Given the description of an element on the screen output the (x, y) to click on. 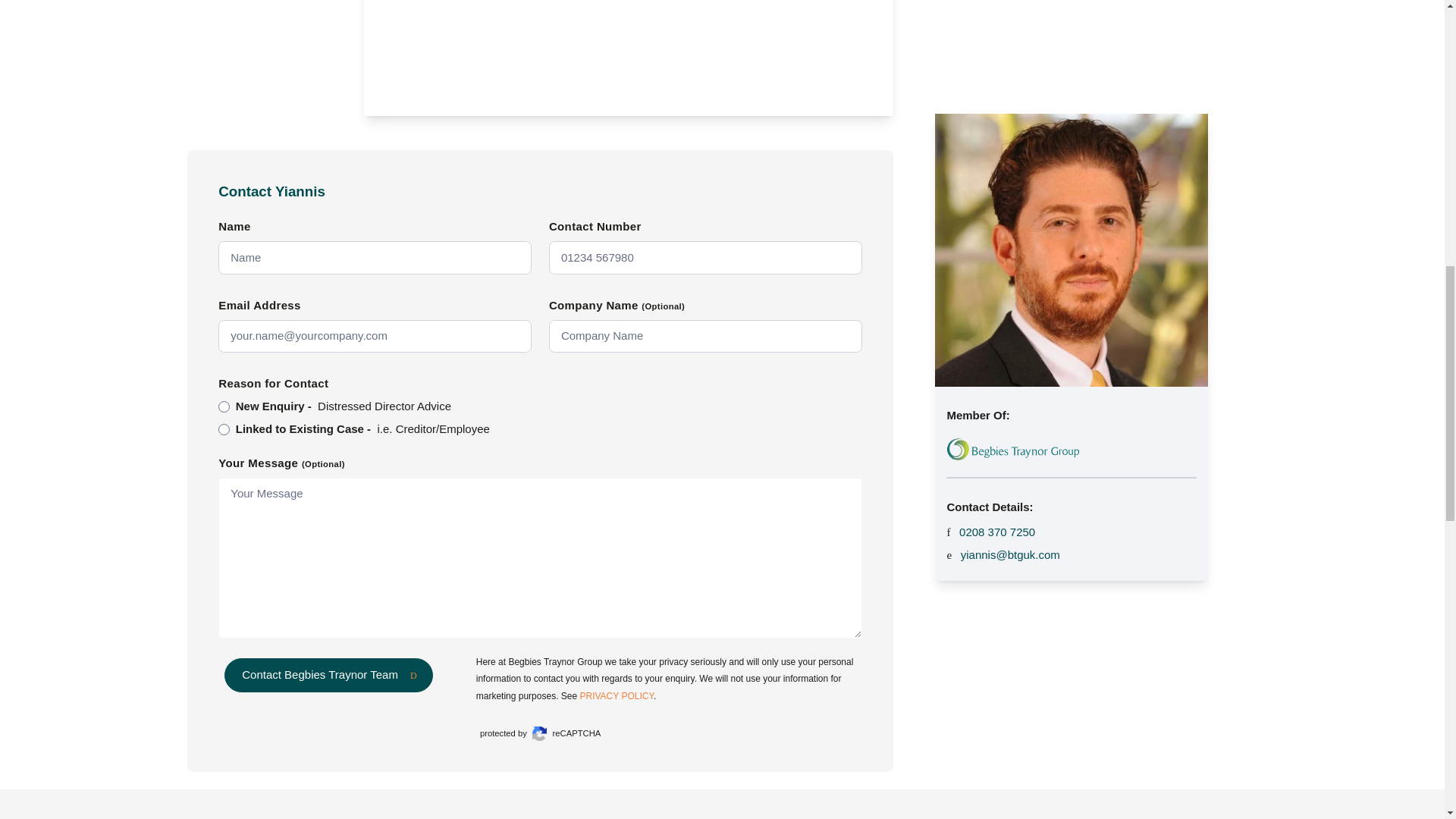
New Enquiry - Distressed Director Advice (224, 405)
